Given the description of an element on the screen output the (x, y) to click on. 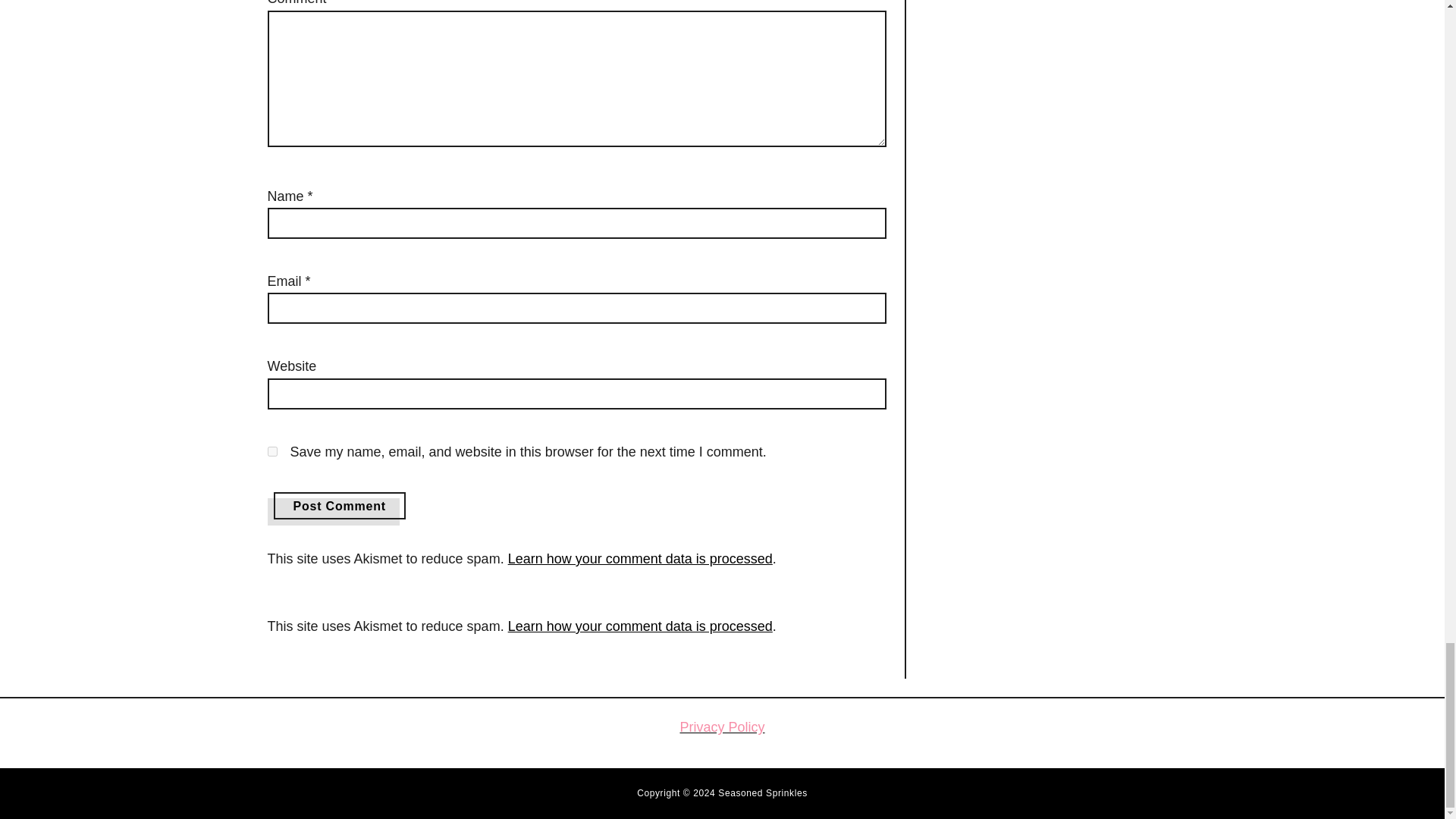
yes (271, 451)
Post Comment (339, 505)
